Given the description of an element on the screen output the (x, y) to click on. 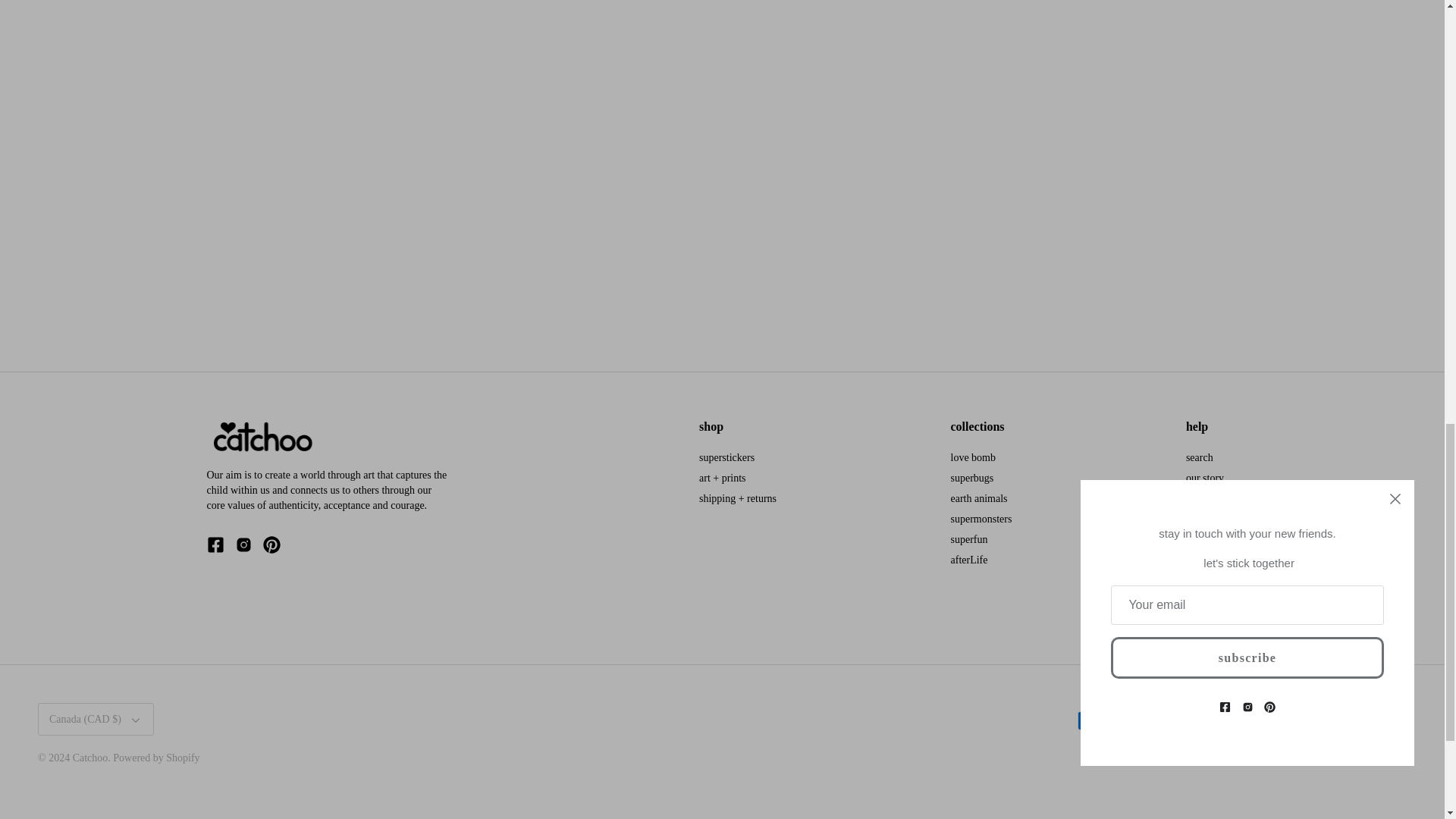
Shop Pay (1352, 720)
Mastercard (1277, 720)
Apple Pay (1129, 720)
PayPal (1315, 720)
Diners Club (1166, 720)
Visa (1388, 720)
Discover (1203, 720)
Google Pay (1240, 720)
American Express (1092, 720)
